Given the description of an element on the screen output the (x, y) to click on. 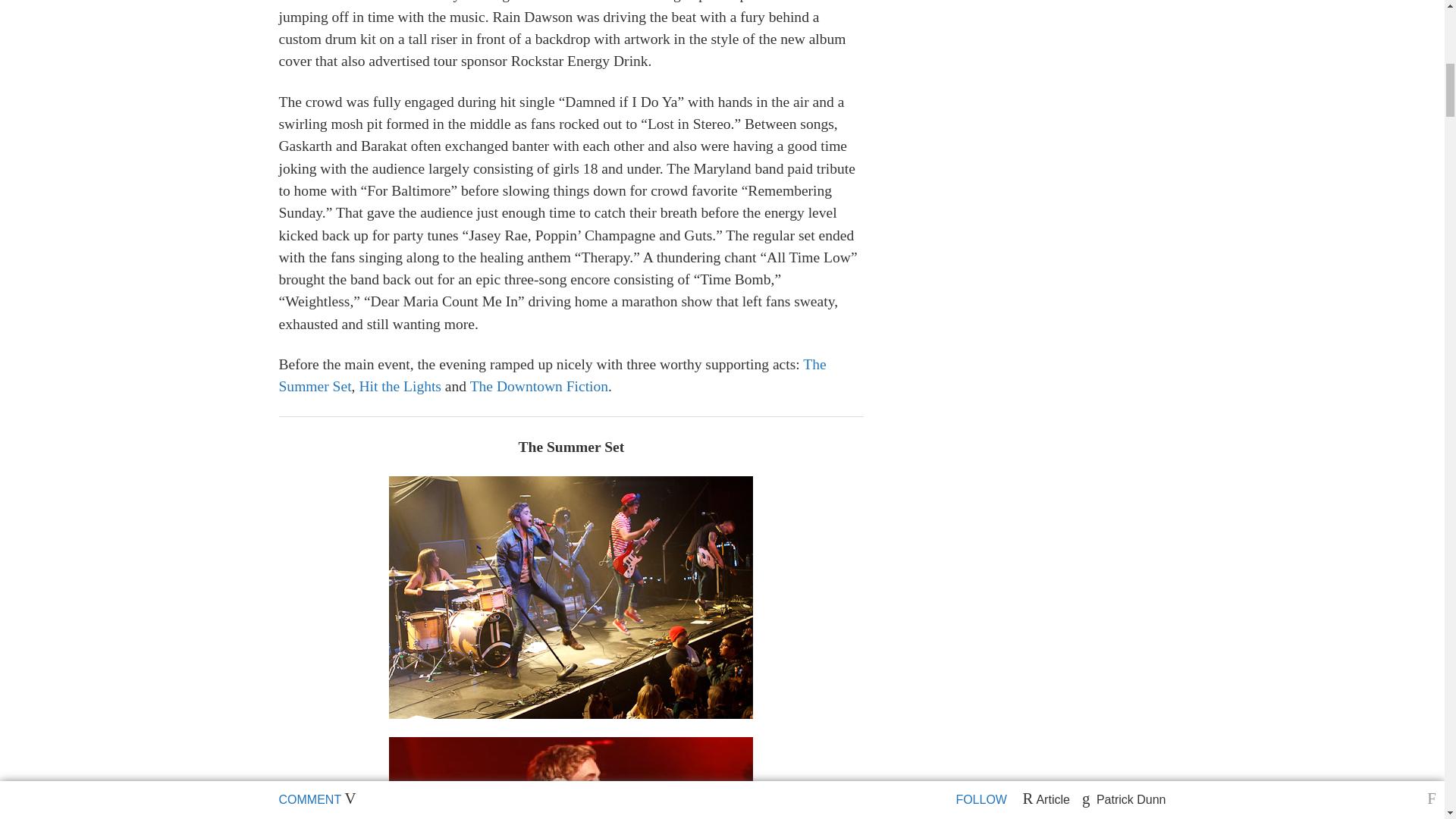
The Summer Set (553, 374)
Hit the Lights (398, 385)
The Downtown Fiction (539, 385)
